Given the description of an element on the screen output the (x, y) to click on. 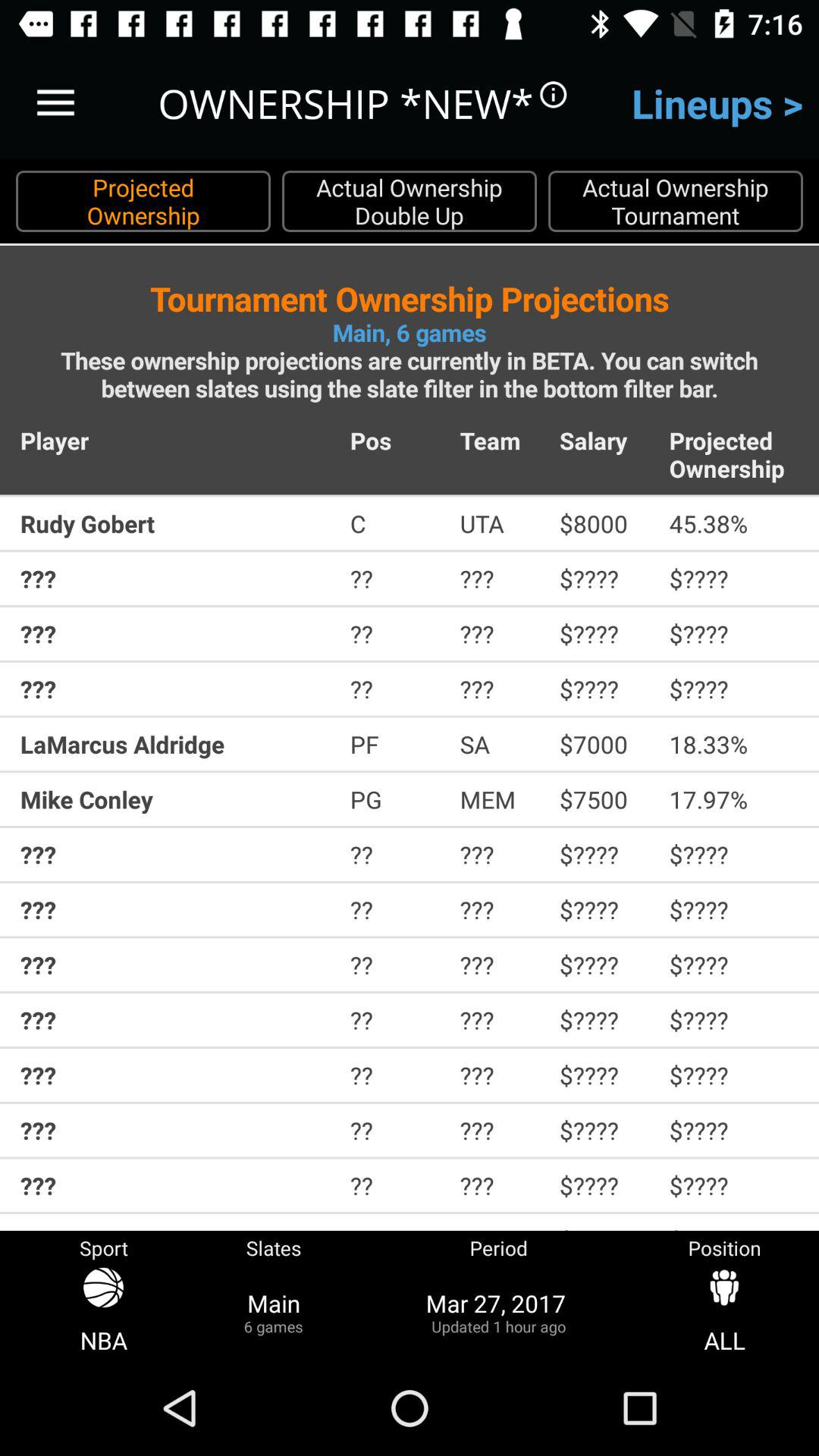
launch the $7000 item (604, 744)
